Given the description of an element on the screen output the (x, y) to click on. 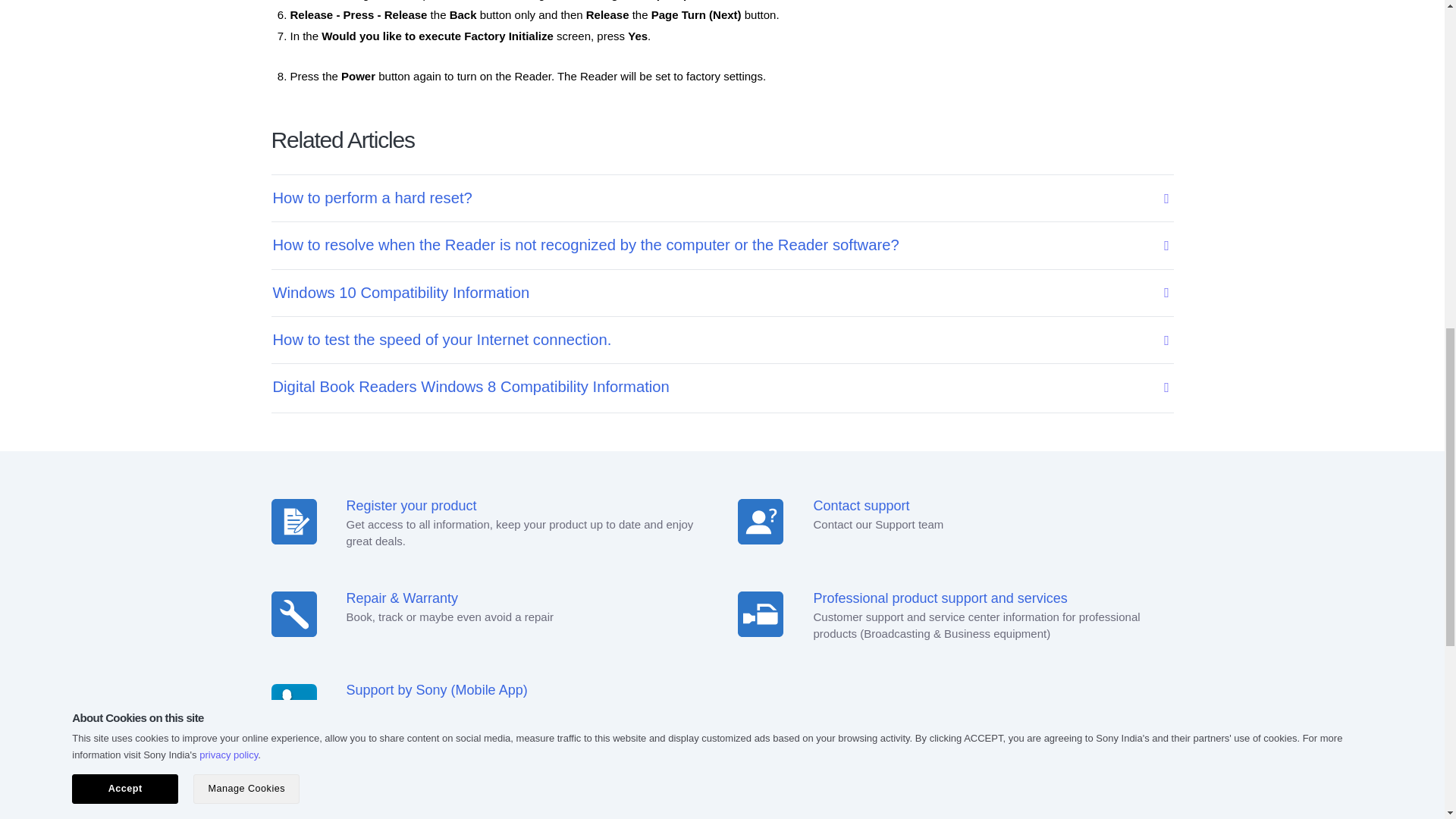
nntnnnttnn (760, 614)
